Given the description of an element on the screen output the (x, y) to click on. 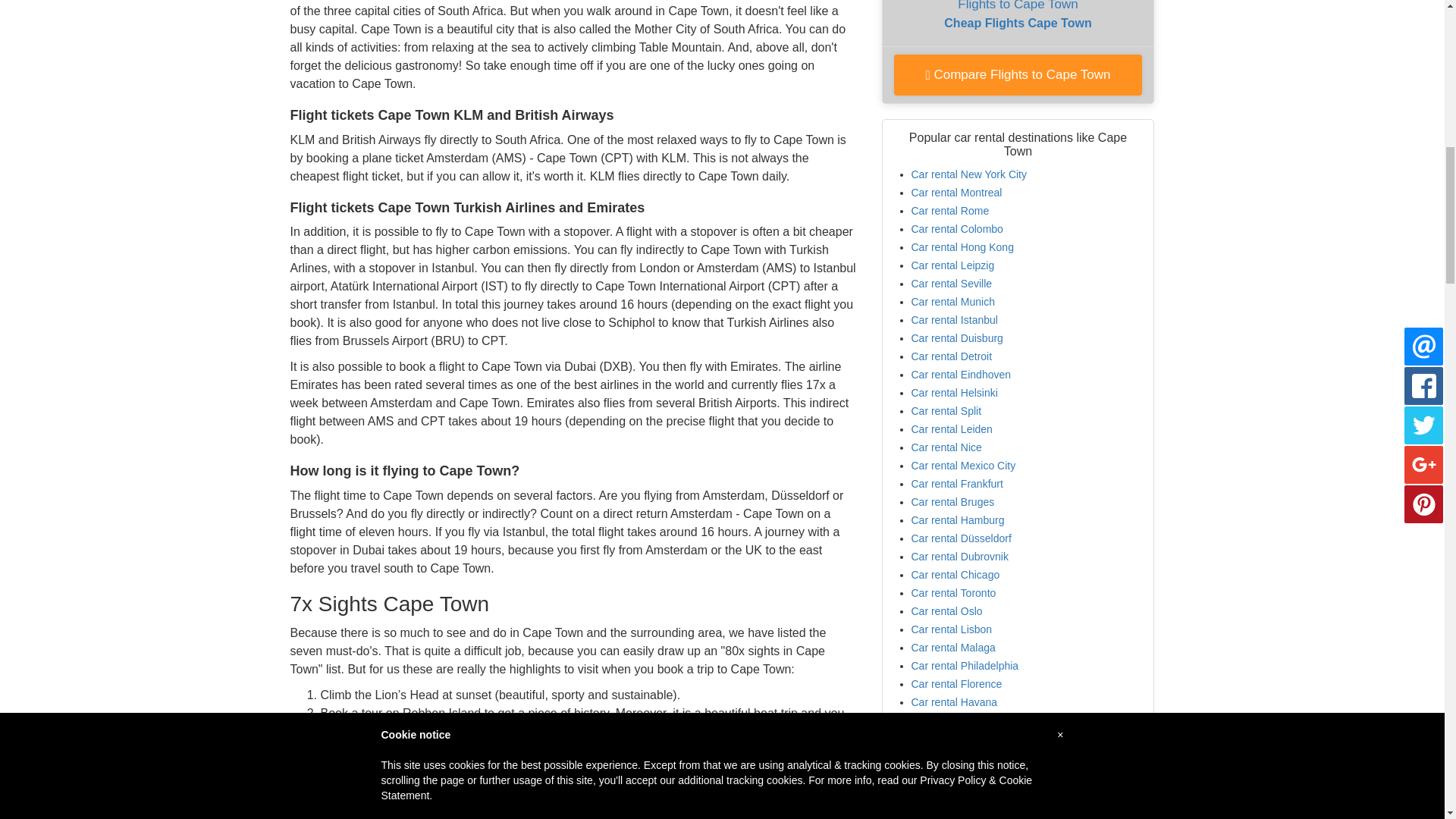
Car rental Rome (1018, 22)
Car rental New York City (950, 210)
Car rental Rome (969, 174)
Compare Flights to Cape Town (950, 210)
Car rental Hong Kong (1017, 74)
Car rental Montreal (962, 246)
Car rental Colombo (957, 192)
Car rental New York City (957, 228)
Car rental Montreal (969, 174)
